Given the description of an element on the screen output the (x, y) to click on. 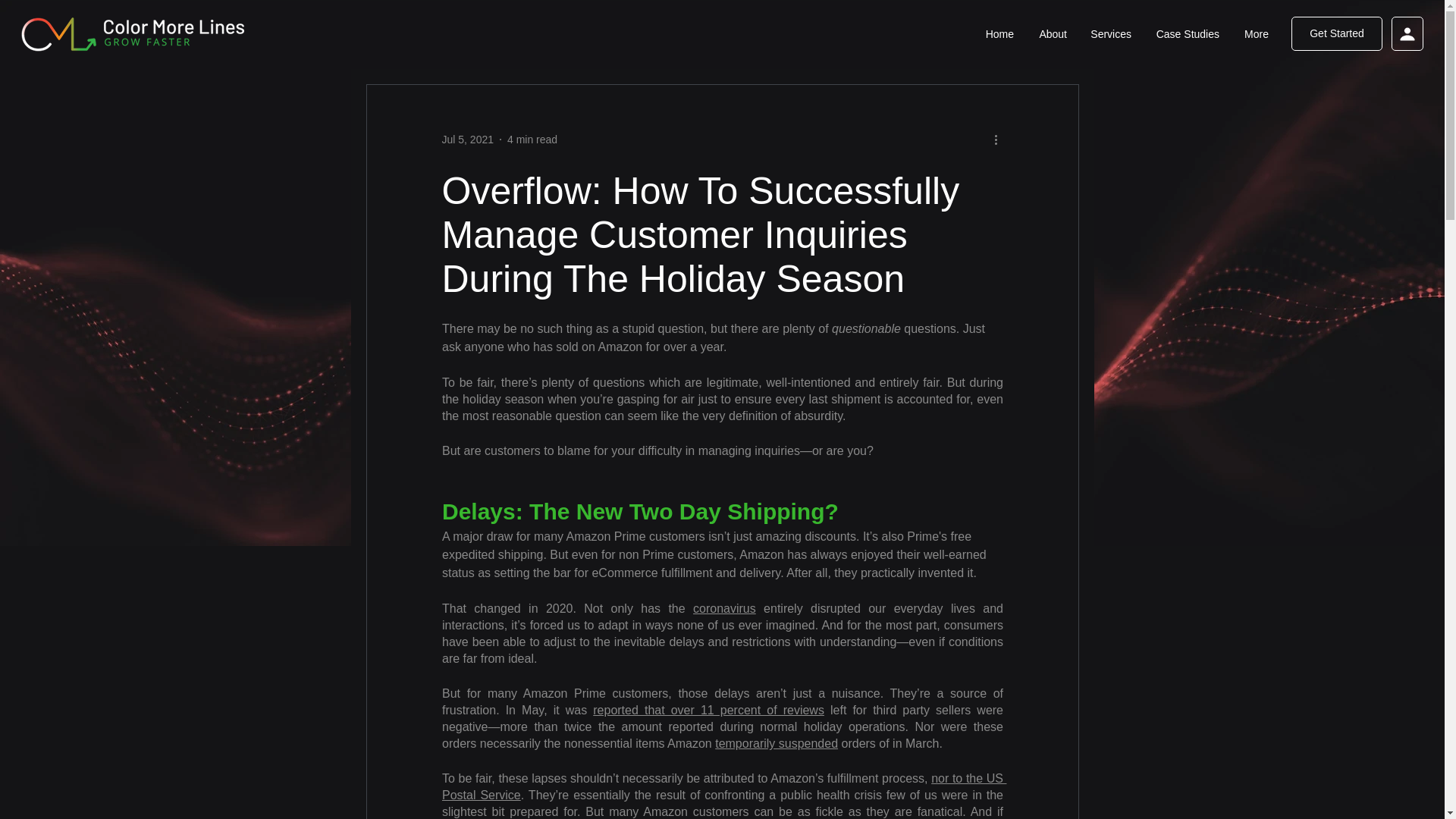
coronavirus (724, 608)
Home (998, 34)
reported that over 11 percent of reviews (708, 709)
Get Started (1336, 33)
Jul 5, 2021 (467, 139)
About (1051, 34)
temporarily suspended (776, 743)
nor to the US Postal Service (723, 786)
Case Studies (1186, 34)
4 min read (531, 139)
Services (1110, 34)
CML-logo-01 color.png (132, 34)
